Given the description of an element on the screen output the (x, y) to click on. 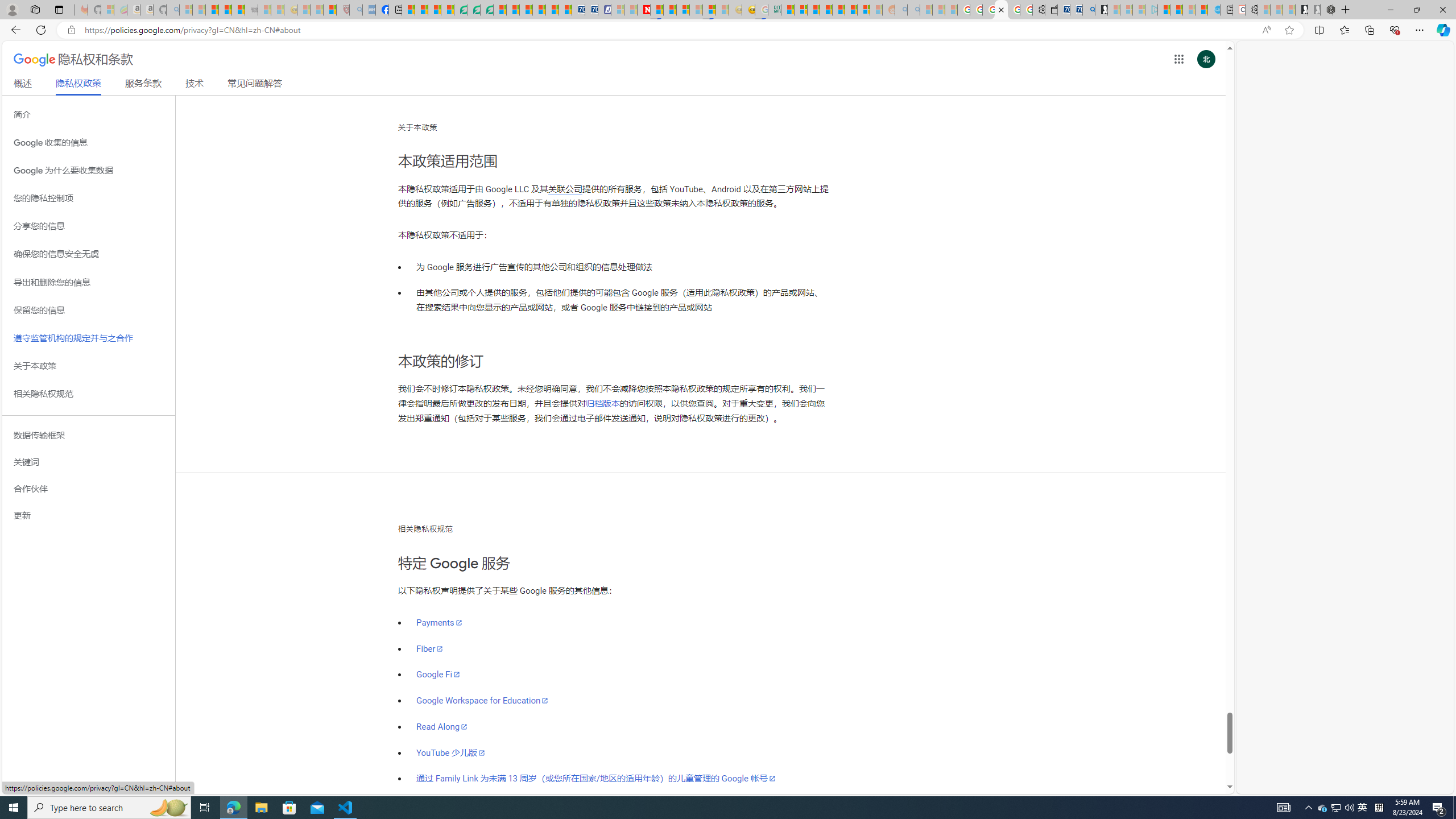
Student Loan Update: Forgiveness Program Ends This Month (826, 9)
The Weather Channel - MSN (212, 9)
New Report Confirms 2023 Was Record Hot | Watch (237, 9)
